Given the description of an element on the screen output the (x, y) to click on. 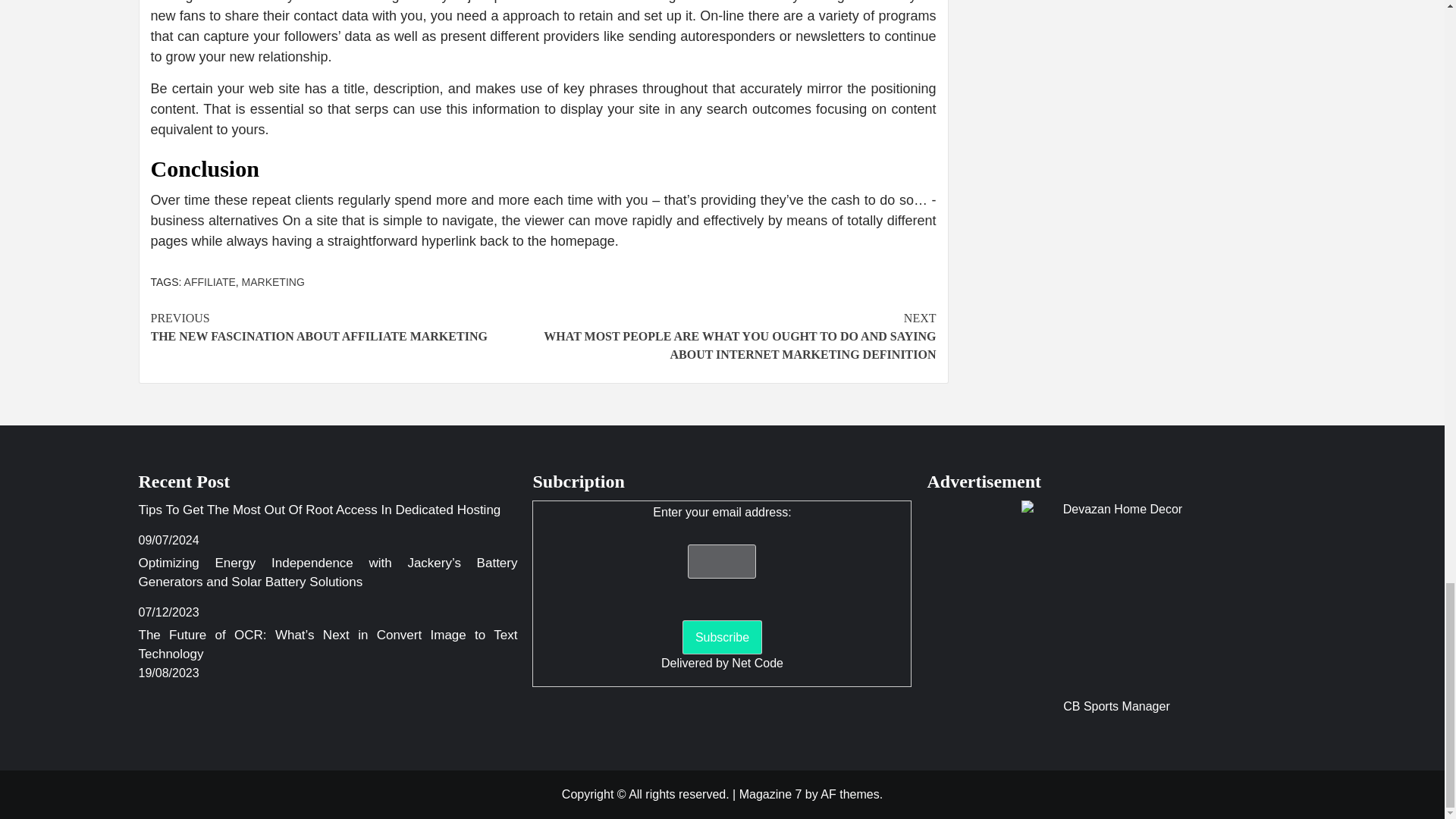
Devazan Home Decor (1116, 595)
MARKETING (272, 282)
AFFILIATE (209, 282)
Subscribe (346, 327)
